Given the description of an element on the screen output the (x, y) to click on. 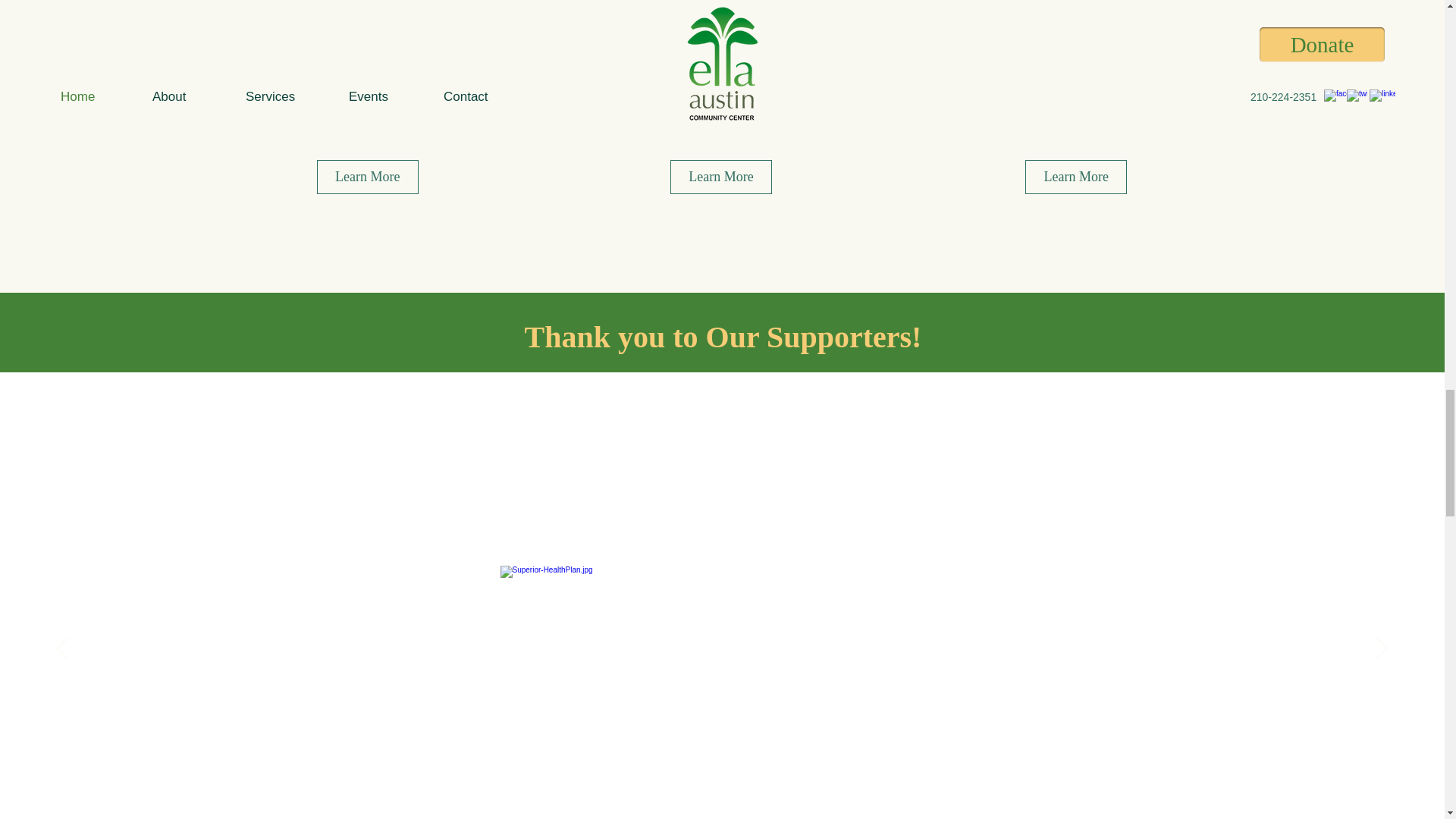
Learn More (720, 176)
Learn More (368, 176)
Learn More (1075, 176)
